Given the description of an element on the screen output the (x, y) to click on. 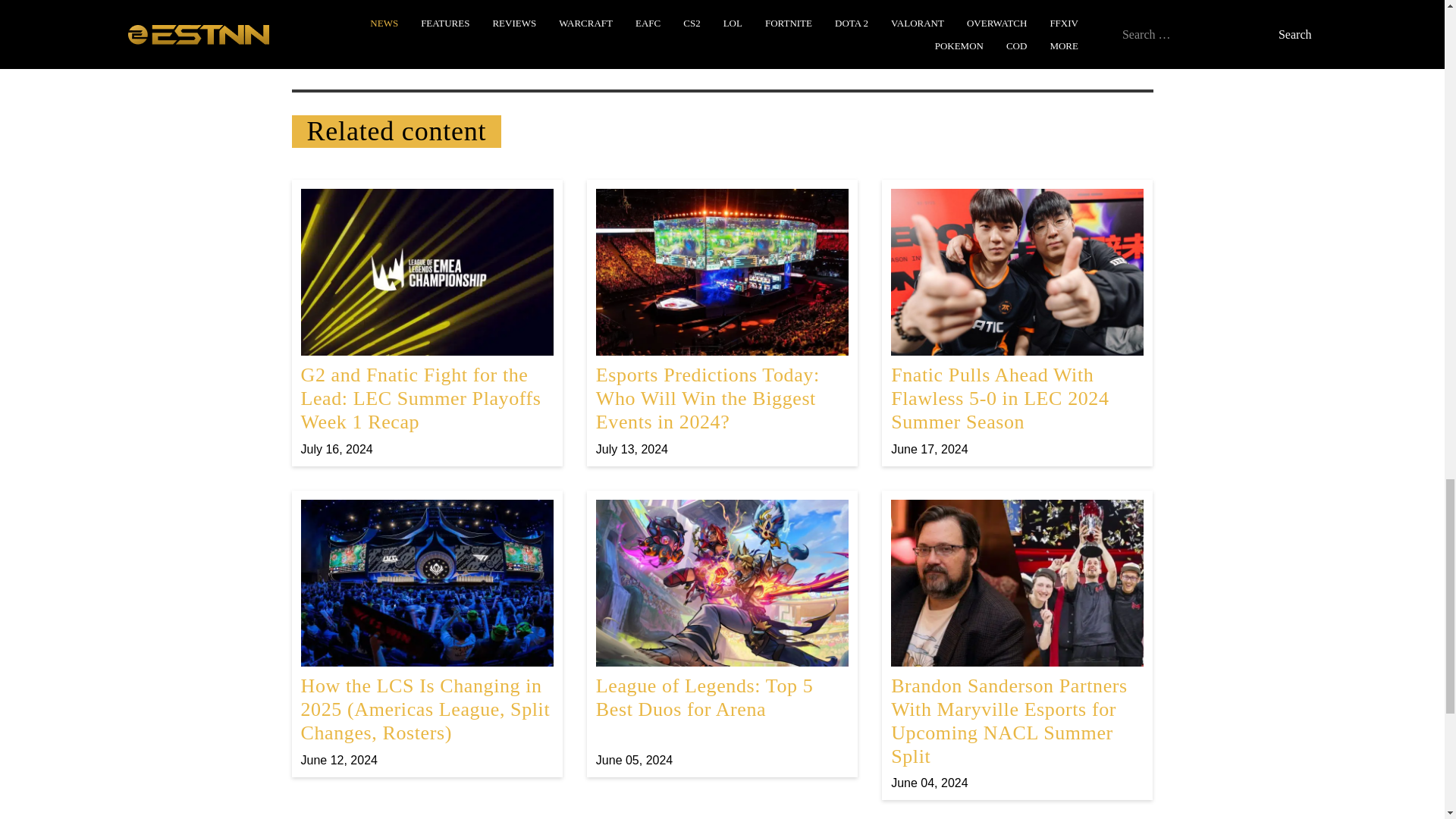
League of Legends: Top 5 Best Duos for Arena (721, 633)
